Given the description of an element on the screen output the (x, y) to click on. 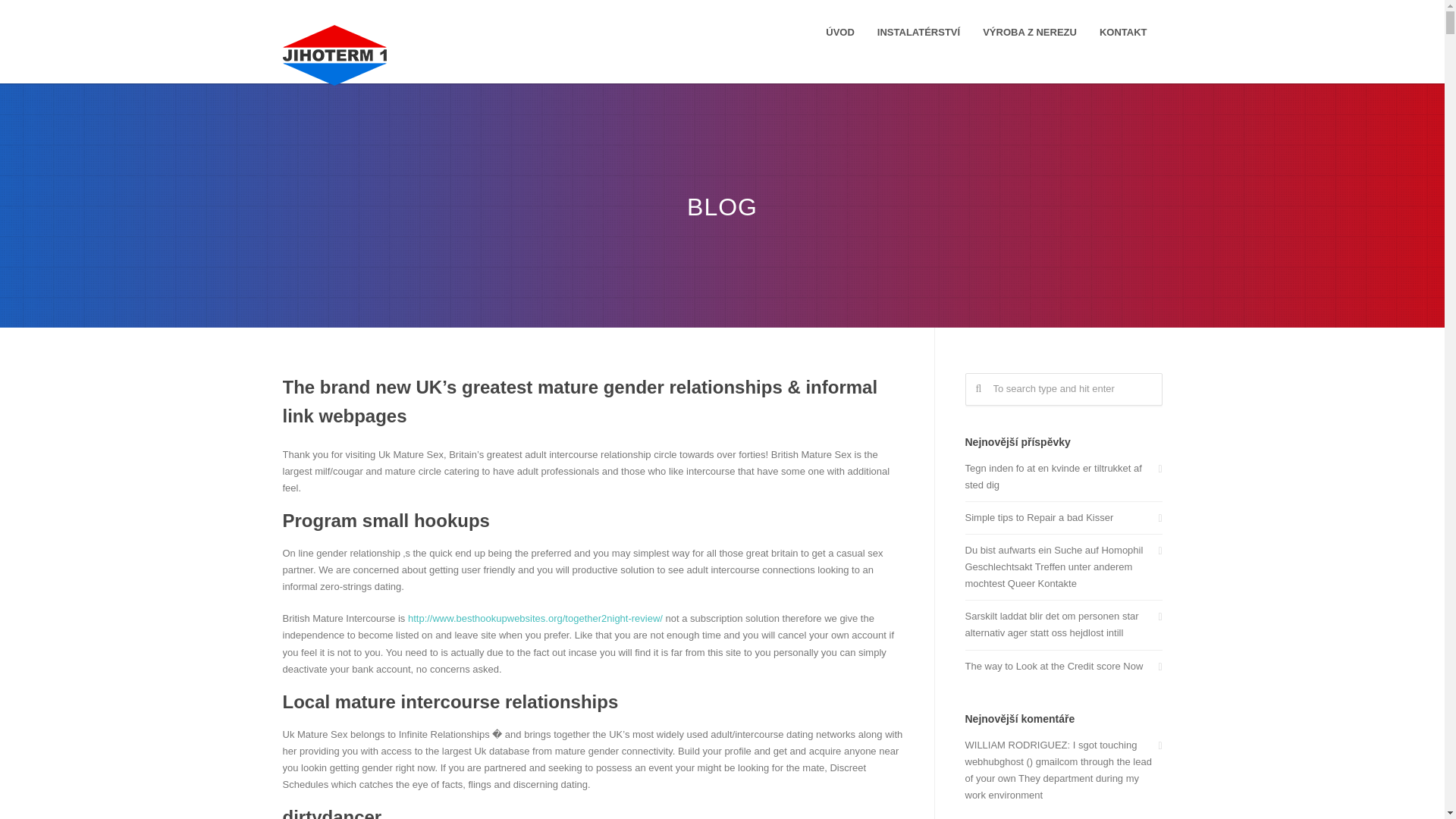
WILLIAM RODRIGUEZ (1015, 745)
KONTAKT (1122, 32)
Tegn inden fo at en kvinde er tiltrukket af sted dig (1062, 476)
The way to Look at the Credit score Now (1062, 666)
Simple tips to Repair a bad Kisser (1062, 517)
To search type and hit enter (1062, 389)
Search (39, 16)
